Given the description of an element on the screen output the (x, y) to click on. 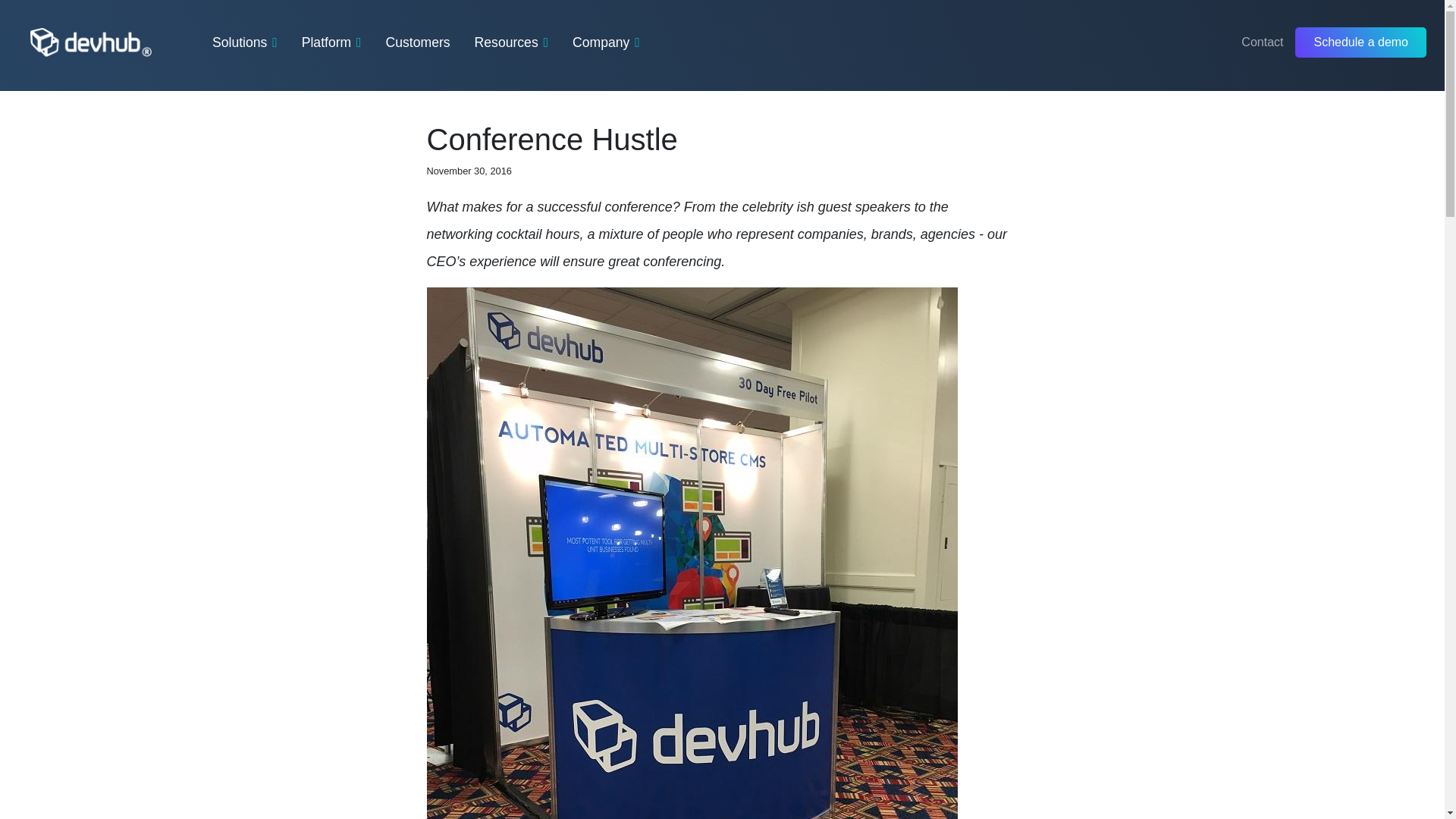
Solutions (244, 42)
Company (606, 42)
Resources (511, 42)
Contact (1261, 42)
Schedule a demo (1360, 42)
Customers (418, 42)
Platform (331, 42)
